Given the description of an element on the screen output the (x, y) to click on. 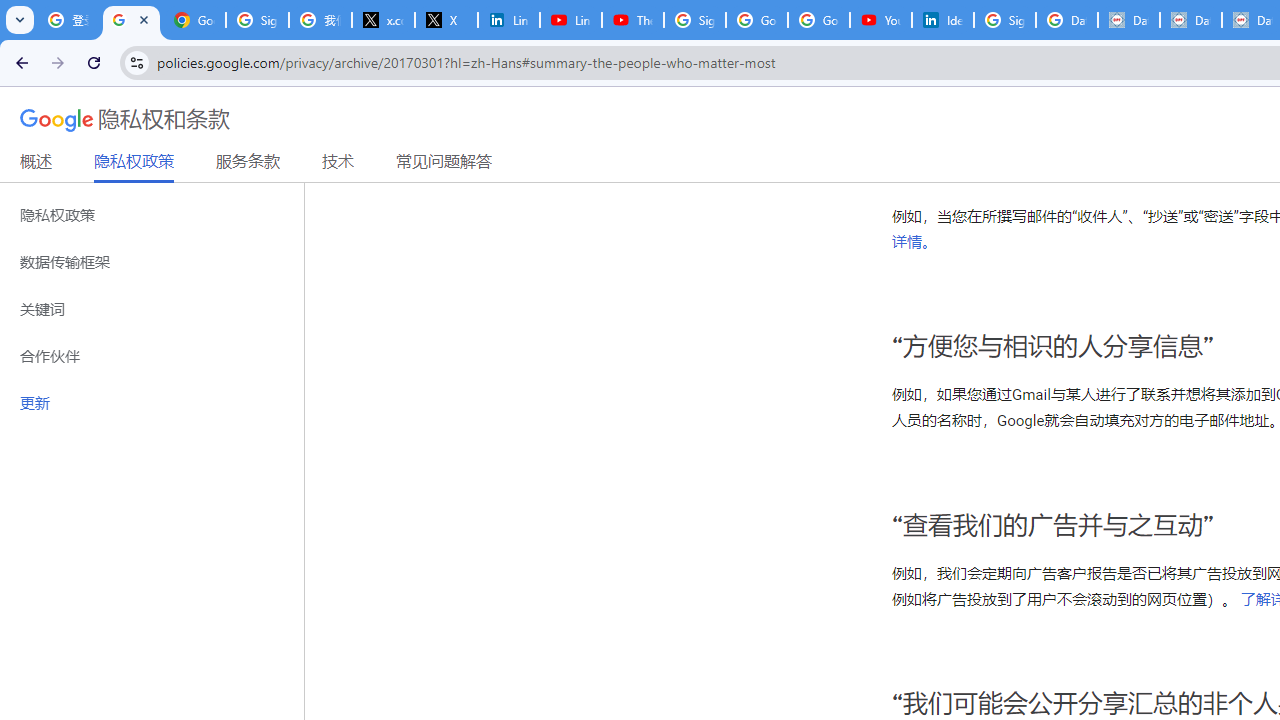
Sign in - Google Accounts (694, 20)
X (445, 20)
